Given the description of an element on the screen output the (x, y) to click on. 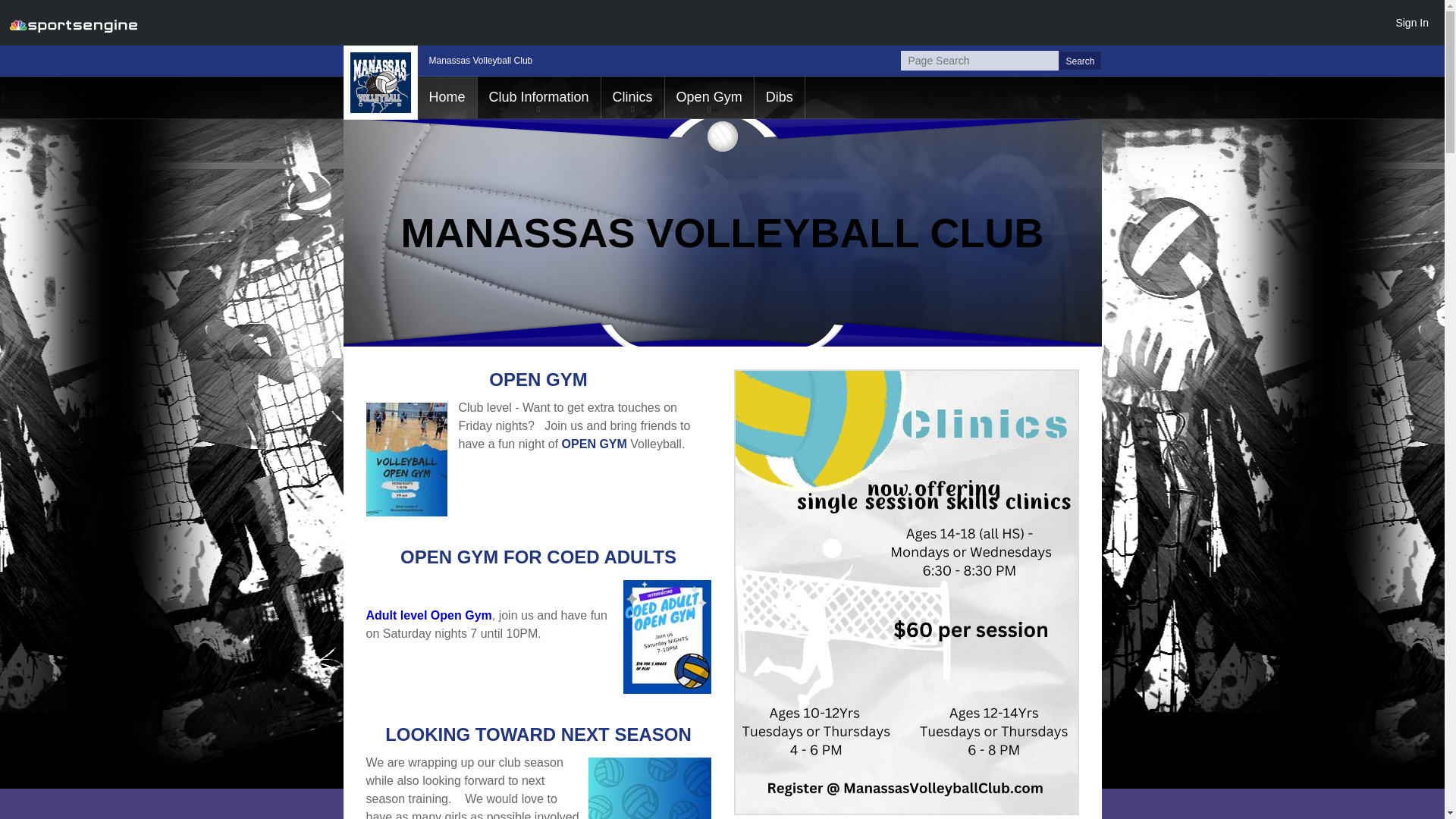
click to go to 'Clinics' (632, 96)
click to go to 'Open Gym' (709, 96)
Sign In (1411, 22)
Clinics (632, 96)
Dibs (779, 96)
Open Gym (709, 96)
click to go to 'Home' (446, 96)
Club Information (538, 96)
OPEN GYM (594, 443)
SportsEngine (73, 22)
Adult level Open Gym (428, 615)
Dibs (779, 96)
click to go to 'Club Information' (538, 96)
Home (446, 96)
